Given the description of an element on the screen output the (x, y) to click on. 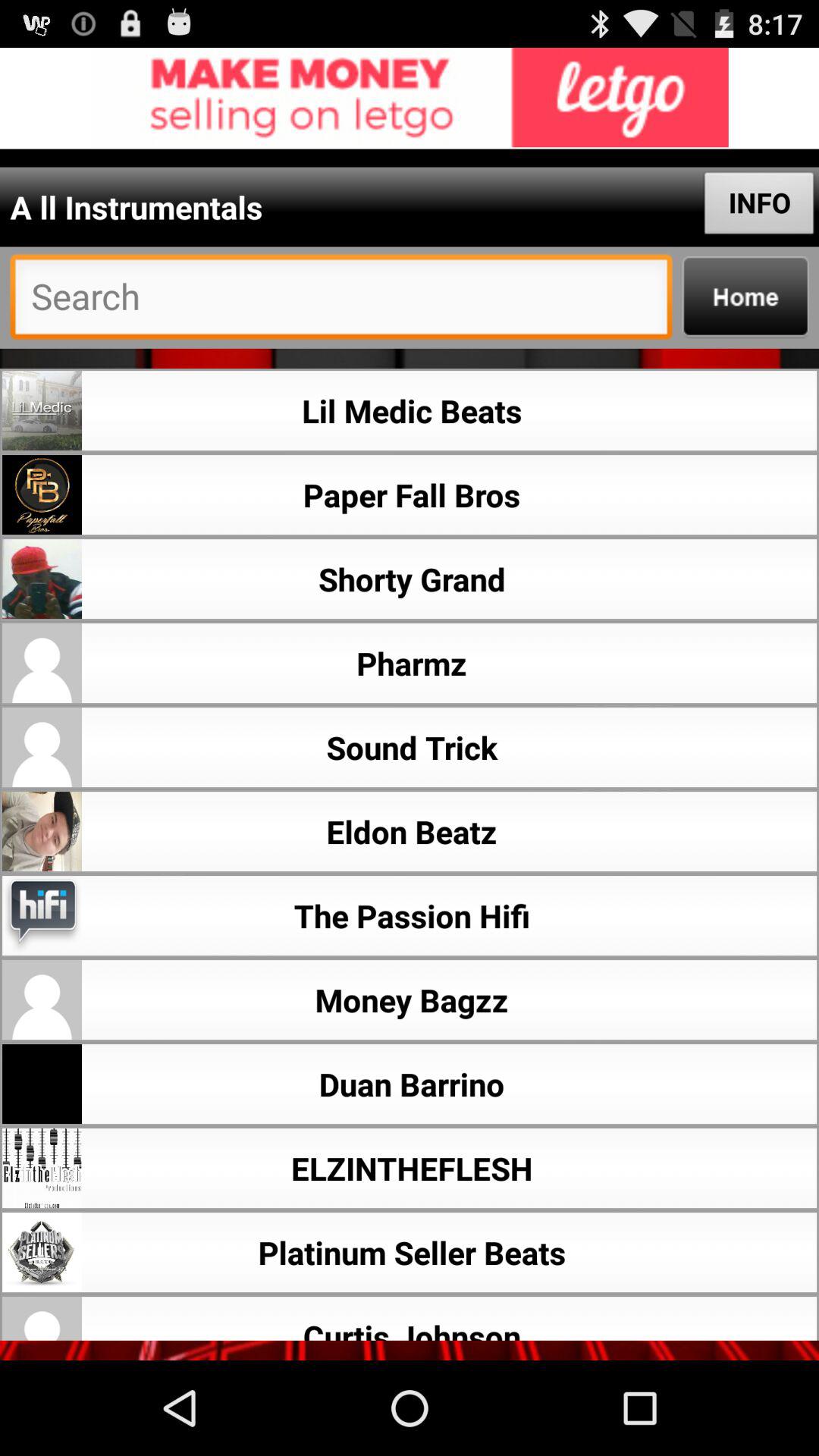
home (745, 297)
